Given the description of an element on the screen output the (x, y) to click on. 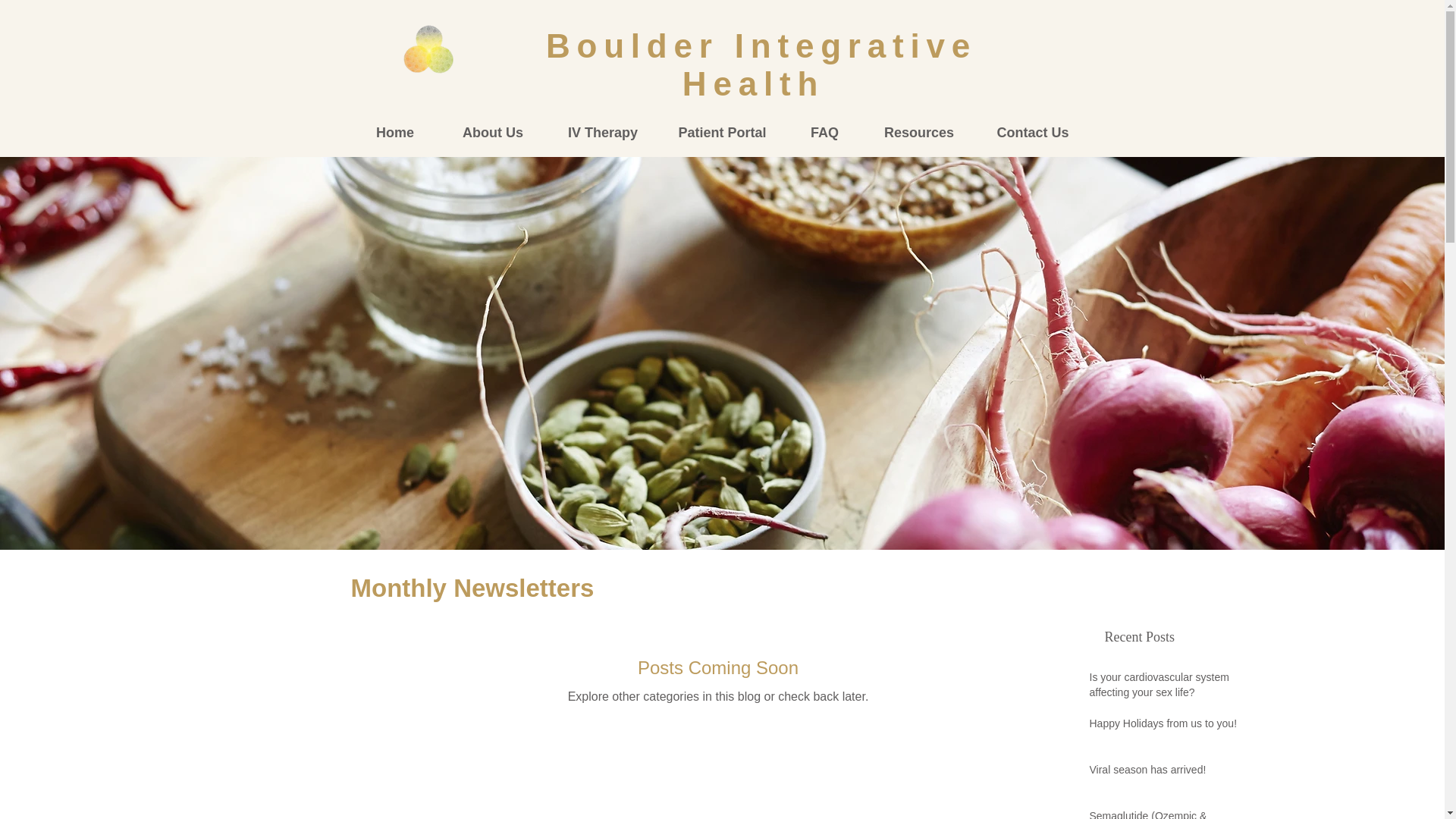
Resources (919, 132)
Viral season has arrived! (1169, 772)
Boulder Integrative Health  (761, 64)
About Us (493, 132)
Is your cardiovascular system affecting your sex life? (1169, 687)
IV Therapy (602, 132)
Patient Portal (722, 132)
Contact Us (1032, 132)
Home (394, 132)
FAQ (825, 132)
